Given the description of an element on the screen output the (x, y) to click on. 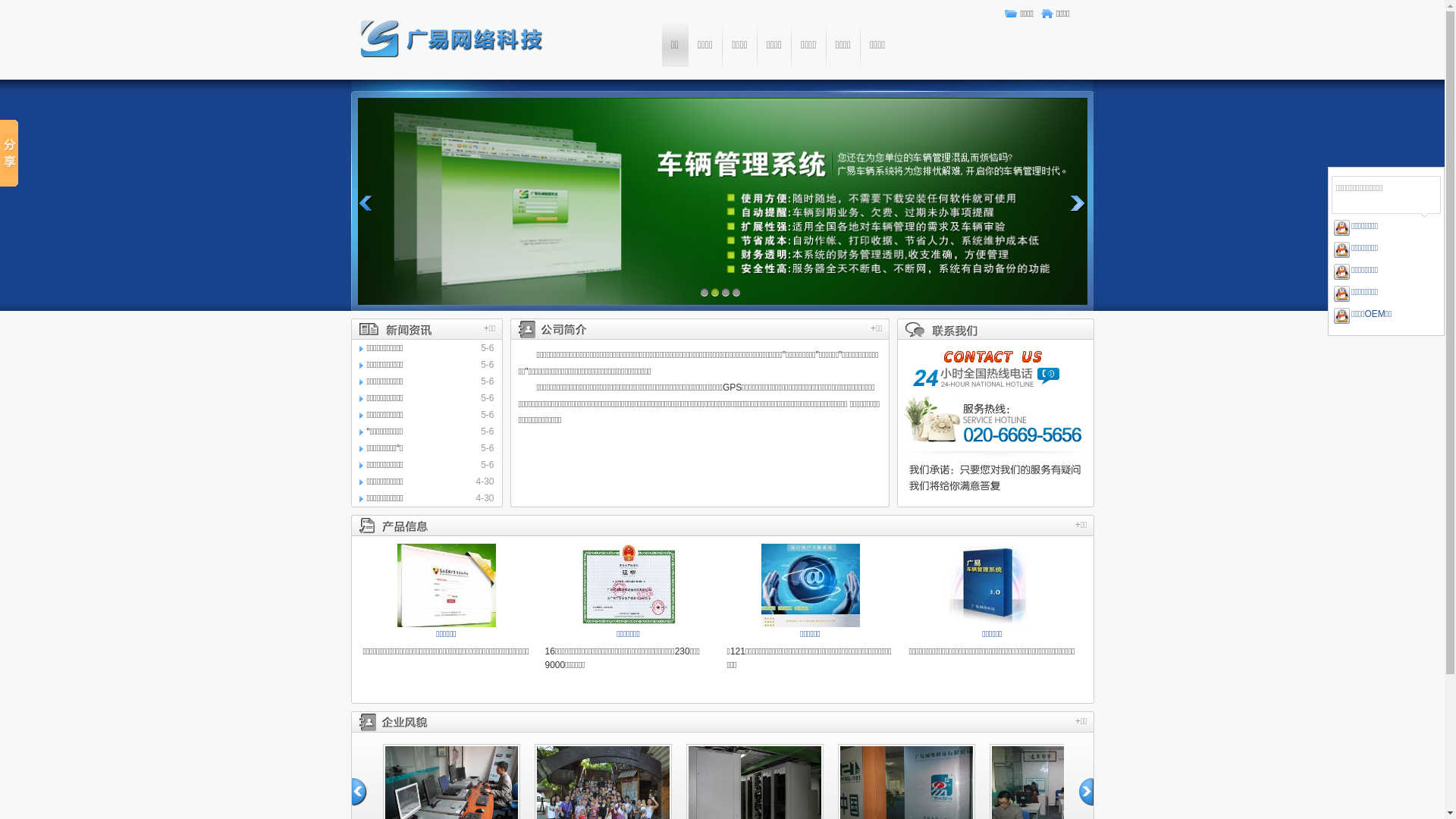
1 Element type: text (703, 291)
4 Element type: text (735, 291)
2 Element type: text (713, 291)
3 Element type: text (724, 291)
